Given the description of an element on the screen output the (x, y) to click on. 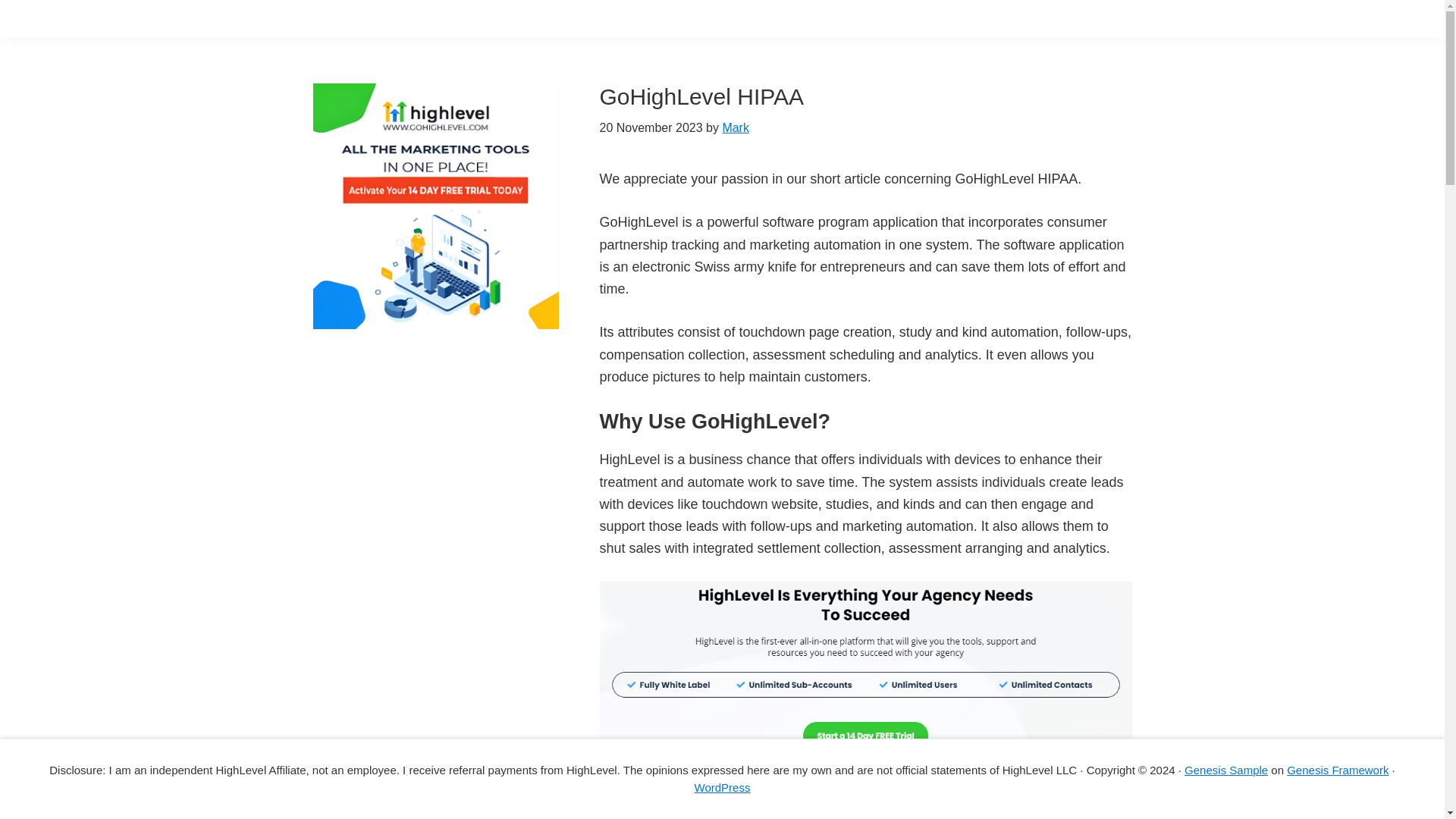
Genesis Sample (1226, 769)
Mark (735, 127)
Genesis Framework (1338, 769)
WordPress (722, 787)
